Given the description of an element on the screen output the (x, y) to click on. 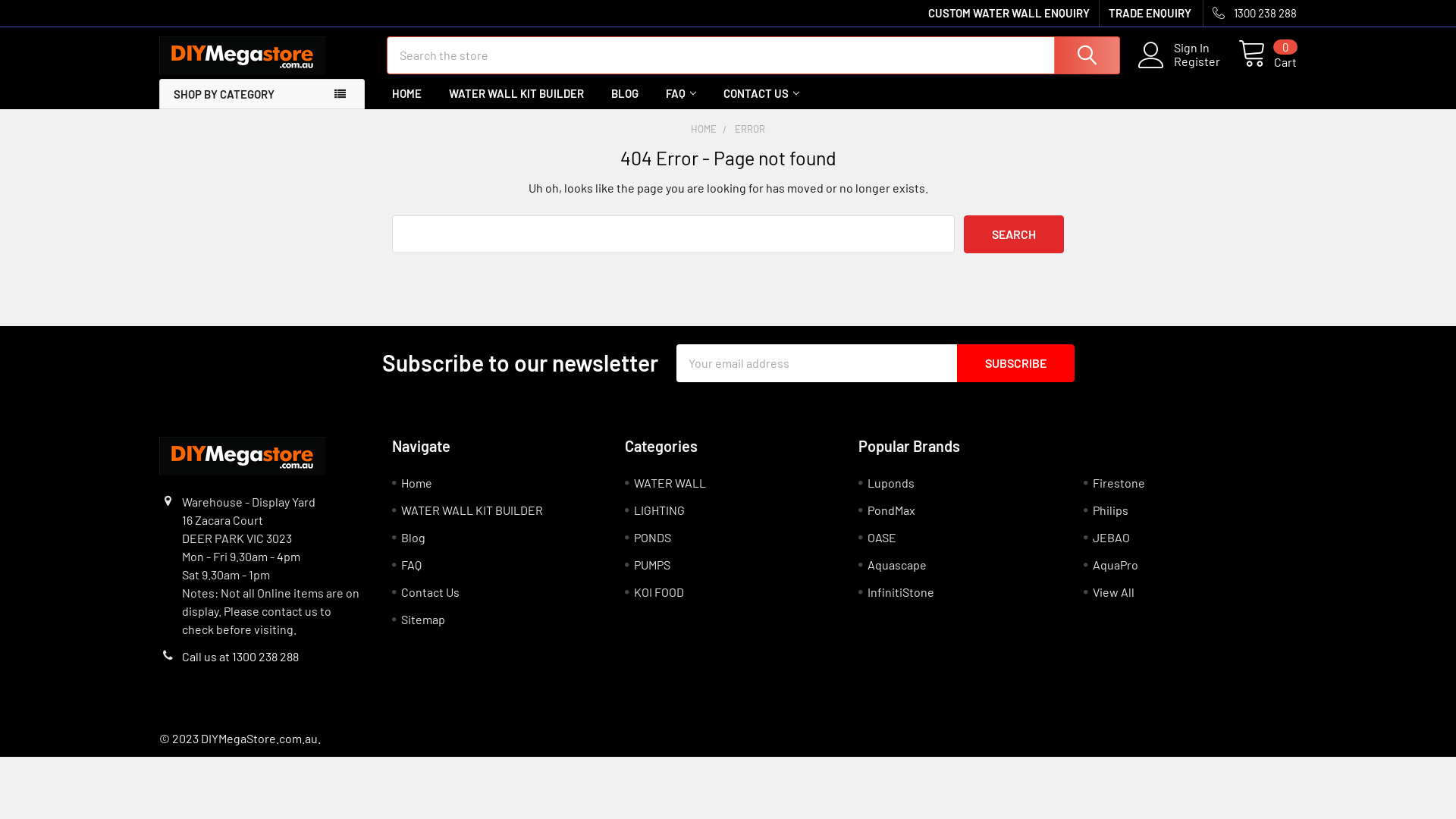
LIGHTING Element type: text (658, 509)
WATER WALL Element type: text (669, 482)
CONTACT US Element type: text (760, 93)
TRADE ENQUIRY Element type: text (1145, 13)
DIYMegaStore.com.au Element type: hover (242, 55)
View All Element type: text (1113, 591)
FAQ Element type: text (680, 93)
KOI FOOD Element type: text (658, 591)
PUMPS Element type: text (651, 564)
SHOP BY CATEGORY Element type: text (261, 93)
PONDS Element type: text (652, 537)
Sitemap Element type: text (423, 618)
Philips Element type: text (1110, 509)
Cart
0 Element type: text (1267, 54)
Home Element type: text (416, 482)
HOME Element type: text (406, 93)
Aquascape Element type: text (896, 564)
Search Element type: text (1013, 234)
Subscribe Element type: text (1015, 363)
Sign In Element type: text (1205, 47)
FAQ Element type: text (411, 564)
BLOG Element type: text (624, 93)
Register Element type: text (1205, 61)
1300 238 288 Element type: text (1249, 13)
Luponds Element type: text (890, 482)
HOME Element type: text (703, 128)
OASE Element type: text (881, 537)
Blog Element type: text (413, 537)
PondMax Element type: text (891, 509)
WATER WALL KIT BUILDER Element type: text (516, 93)
JEBAO Element type: text (1110, 537)
AquaPro Element type: text (1115, 564)
Top of Page Element type: hover (1428, 680)
Firestone Element type: text (1118, 482)
WATER WALL KIT BUILDER Element type: text (471, 509)
ERROR Element type: text (749, 128)
DIYMegaStore.com.au Element type: hover (242, 455)
Search Element type: text (1085, 55)
Contact Us Element type: text (430, 591)
CUSTOM WATER WALL ENQUIRY Element type: text (1008, 13)
InfinitiStone Element type: text (900, 591)
Call us at 1300 238 288 Element type: text (240, 656)
